Given the description of an element on the screen output the (x, y) to click on. 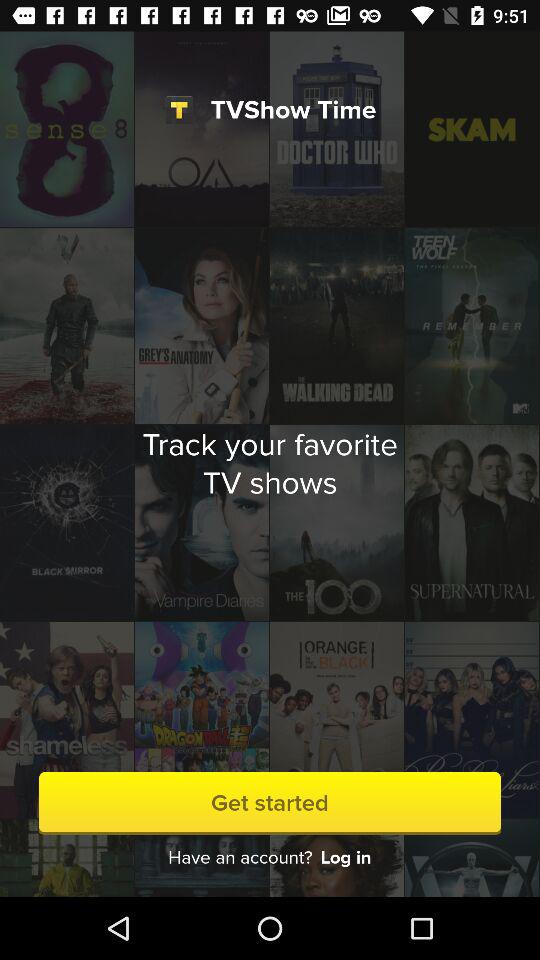
jump to the get started icon (269, 802)
